Given the description of an element on the screen output the (x, y) to click on. 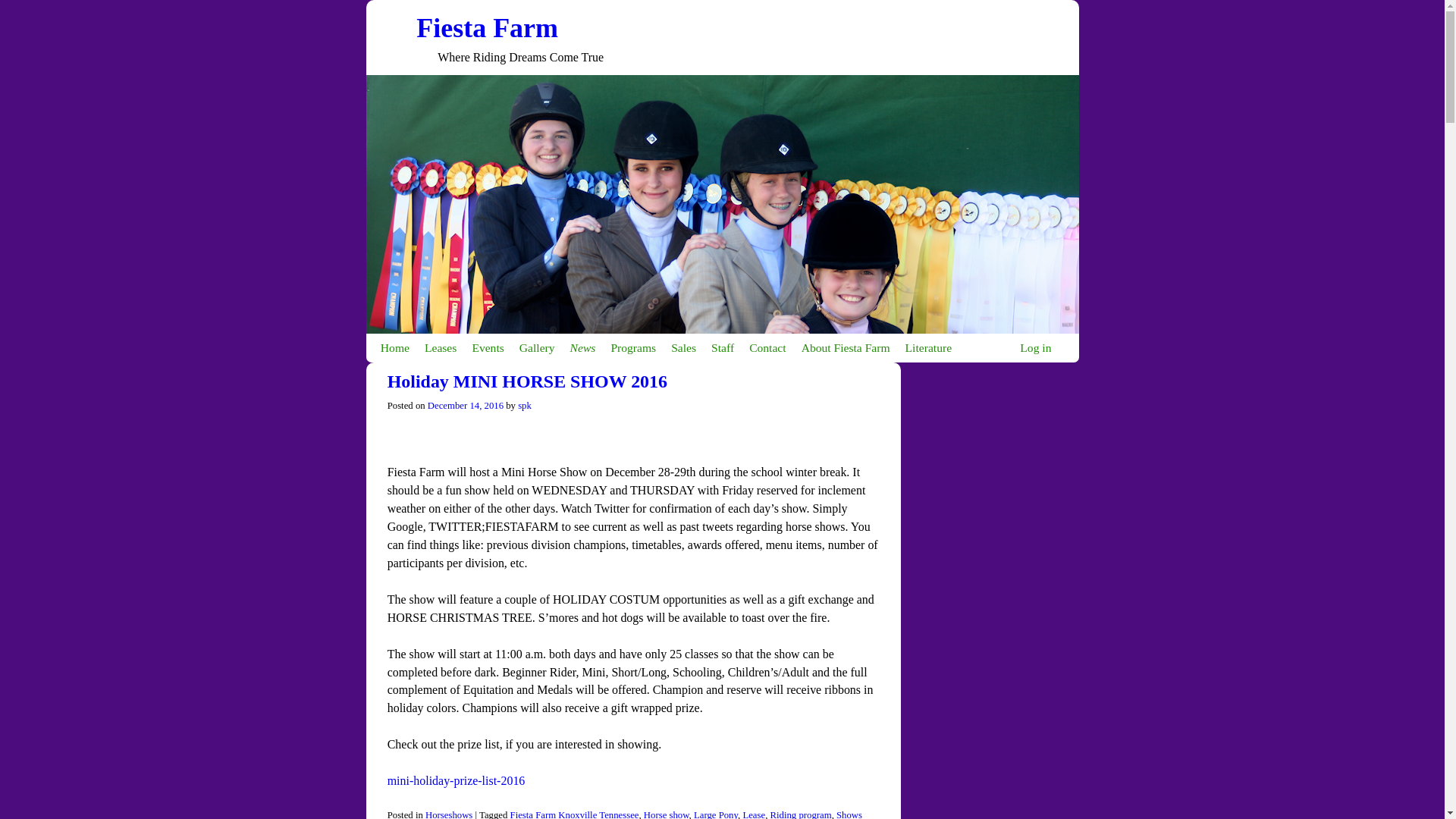
Fiesta Farm (486, 28)
View all posts by spk (524, 405)
Skip to primary content (408, 340)
Skip to secondary content (412, 340)
Leases (440, 347)
12:34 pm (465, 405)
Home (394, 347)
Permalink to Holiday MINI HORSE SHOW 2016 (526, 381)
Events (487, 347)
Fiesta Farm (486, 28)
